Given the description of an element on the screen output the (x, y) to click on. 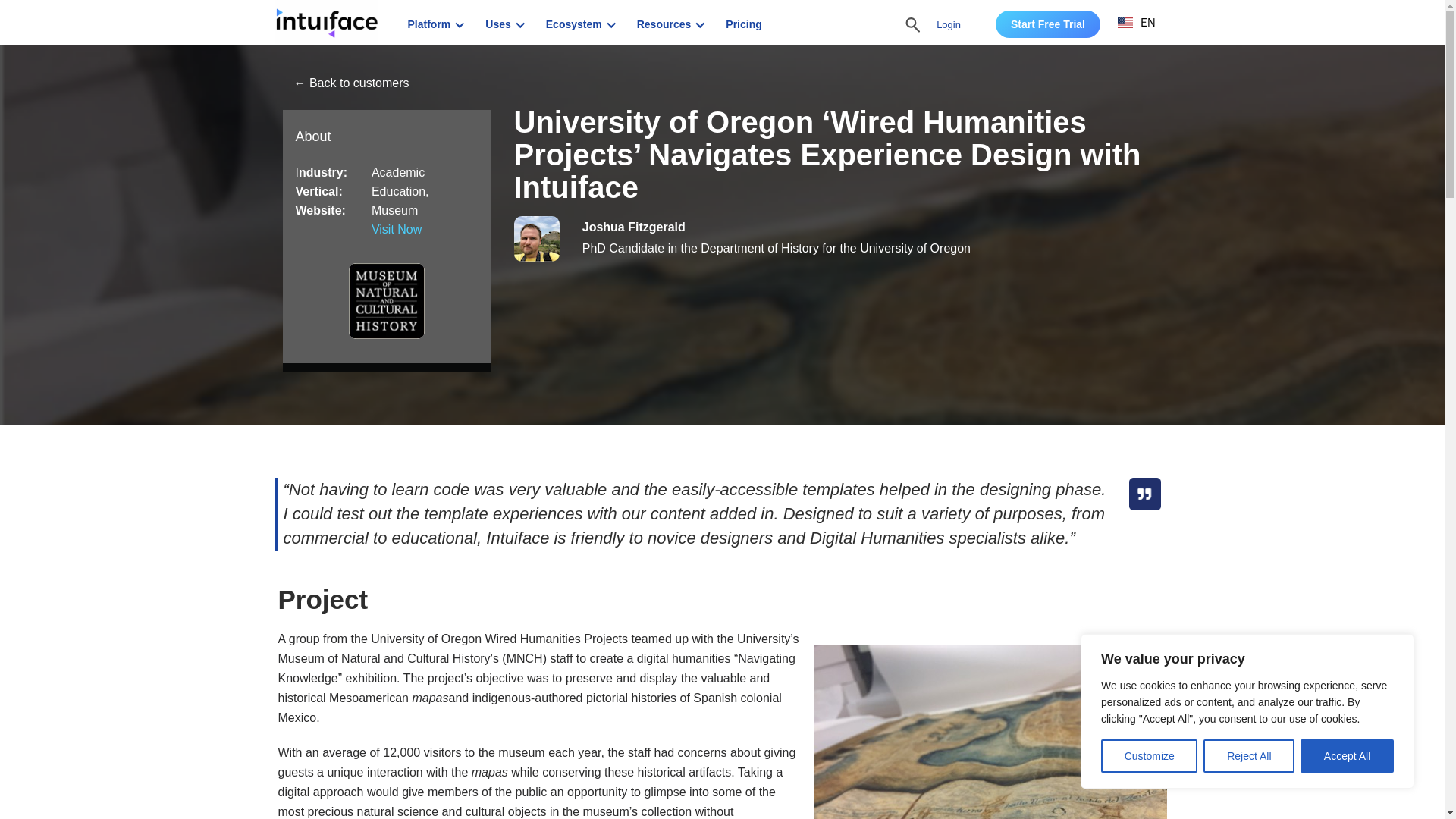
Accept All (1346, 756)
Customize (1148, 756)
Reject All (1249, 756)
